Given the description of an element on the screen output the (x, y) to click on. 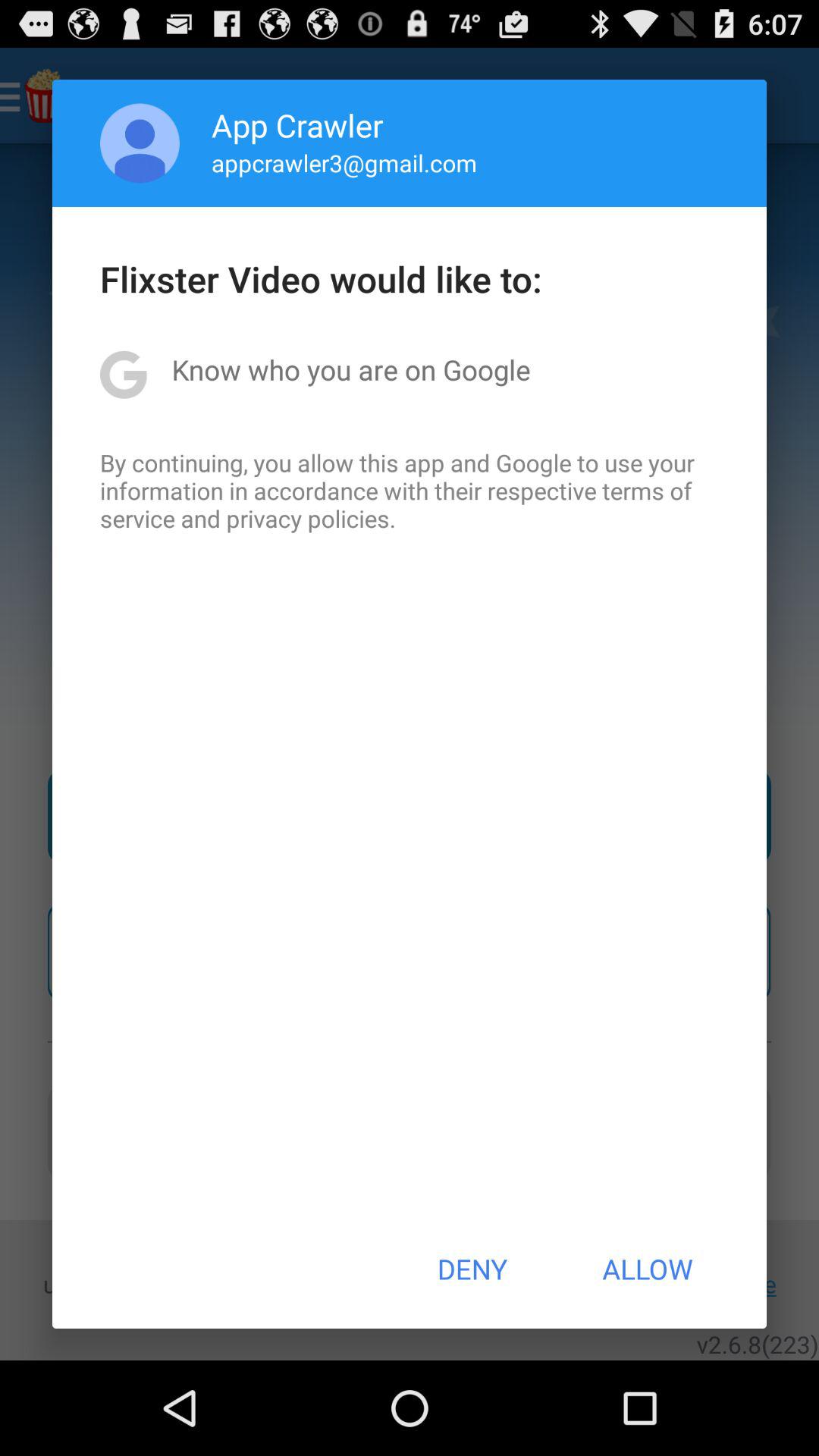
open the item below app crawler (344, 162)
